Given the description of an element on the screen output the (x, y) to click on. 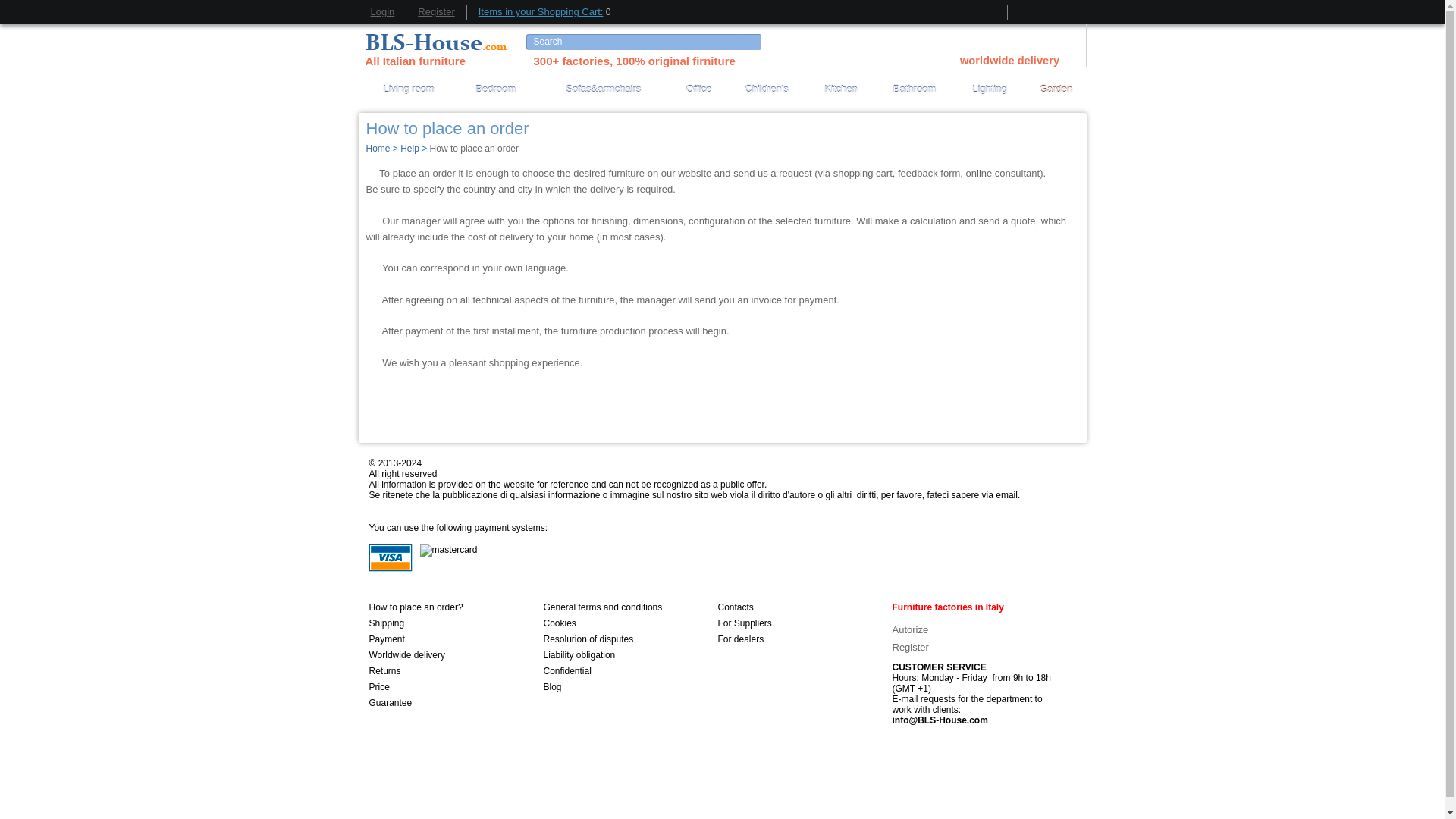
Living room (408, 89)
Choose language (1009, 39)
Home (377, 148)
Items in your Shopping Cart: (541, 11)
Help (409, 148)
Register (435, 11)
Bedroom (495, 89)
Login (381, 11)
